Given the description of an element on the screen output the (x, y) to click on. 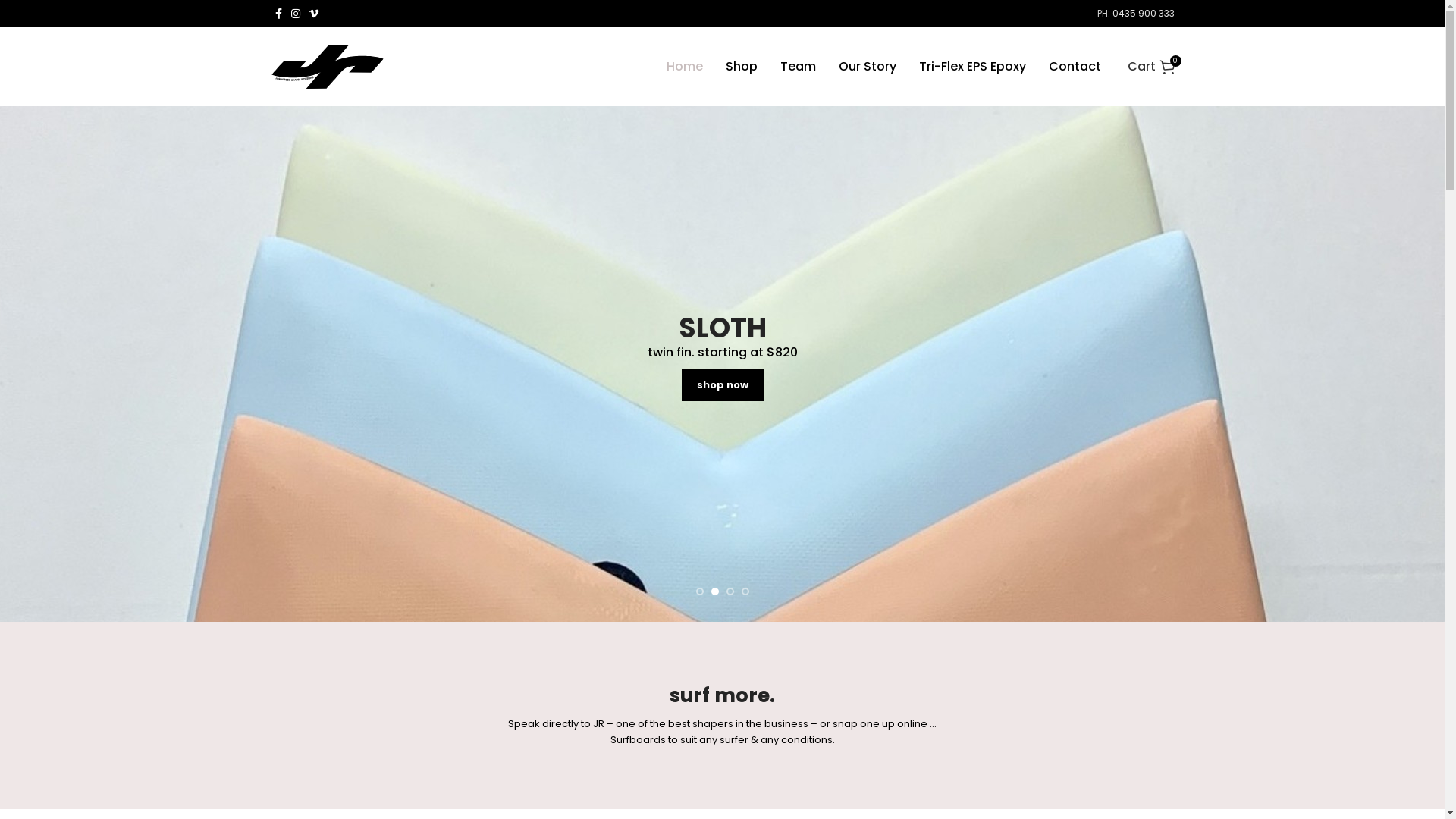
Team Element type: text (797, 66)
0435 900 333 Element type: text (1142, 12)
Contact Element type: text (1074, 66)
Tri-Flex EPS Epoxy Element type: text (972, 66)
Our Story Element type: text (867, 66)
shop now Element type: text (721, 385)
Shop Element type: text (740, 66)
Home Element type: text (683, 66)
0 Element type: text (1145, 66)
